Given the description of an element on the screen output the (x, y) to click on. 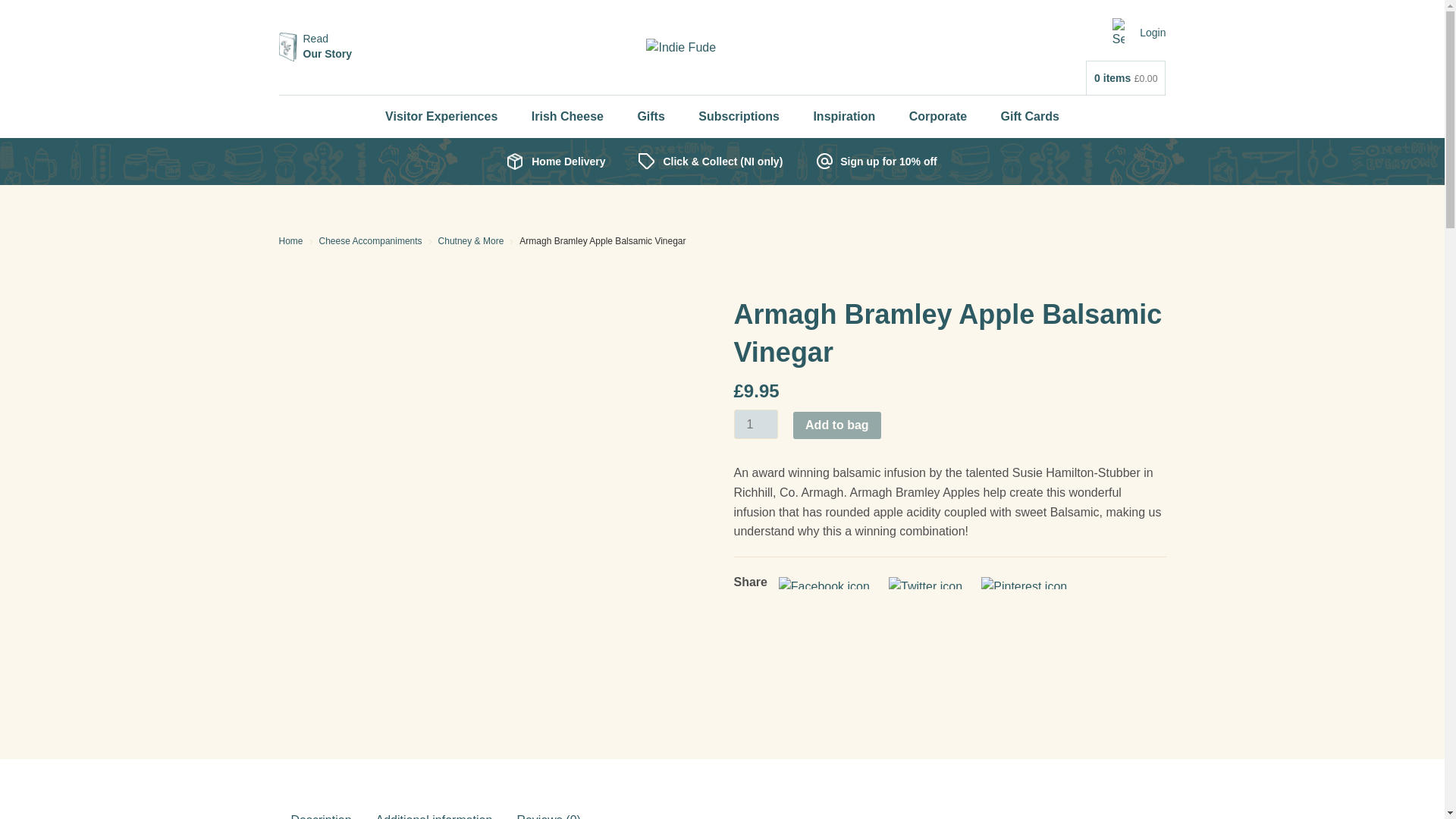
Gifts (315, 46)
Irish Cheese (650, 116)
Subscriptions (567, 116)
1 (738, 116)
Visitor Experiences (755, 423)
Gift Cards (440, 116)
Login (1029, 116)
Inspiration (1153, 32)
Corporate (843, 116)
